Given the description of an element on the screen output the (x, y) to click on. 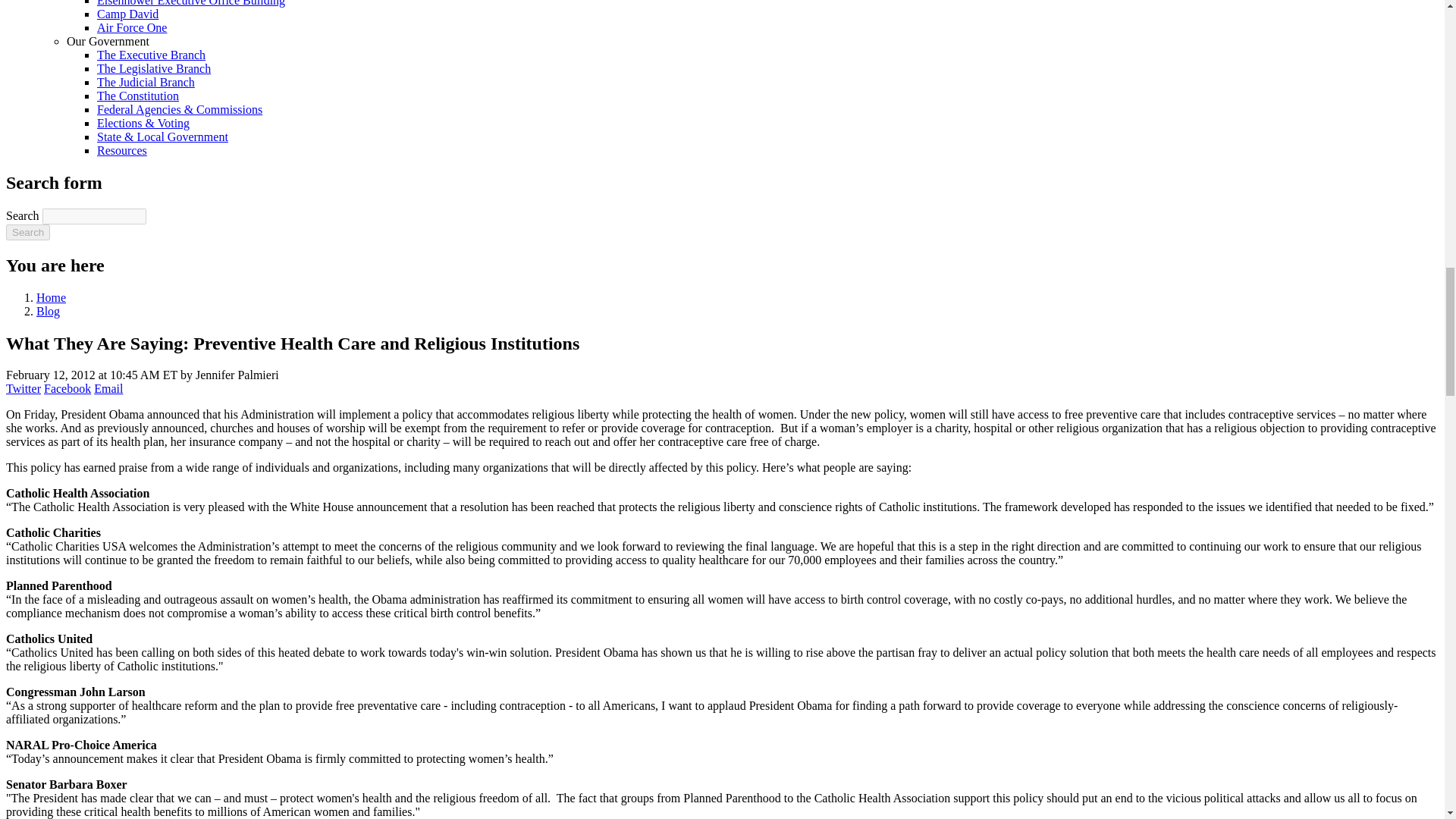
Email (108, 388)
Enter the terms you wish to search for. (94, 216)
Search (27, 232)
Twitter (22, 388)
Facebook (66, 388)
